Given the description of an element on the screen output the (x, y) to click on. 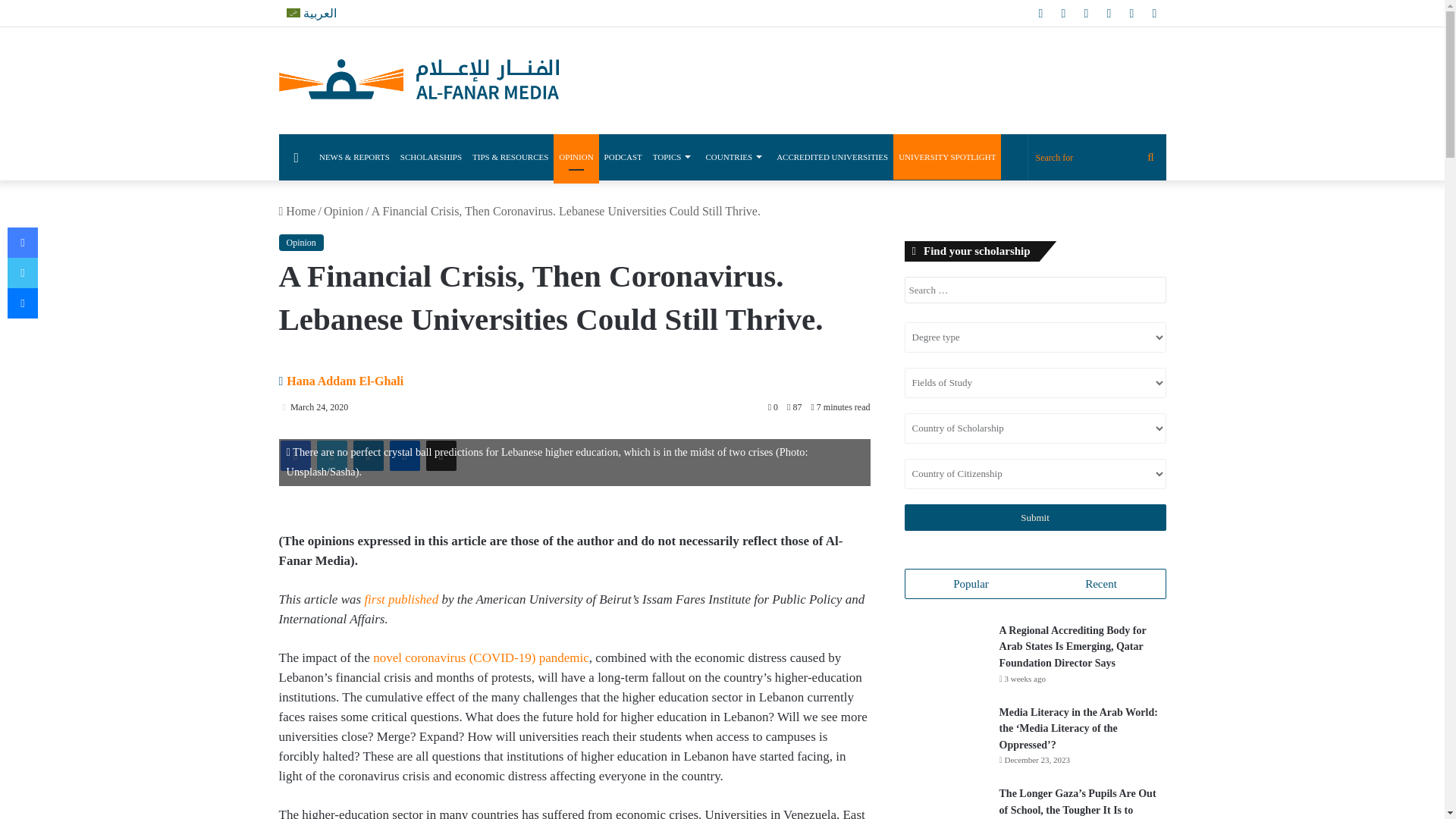
COUNTRIES (735, 156)
PODCAST (622, 156)
LinkedIn (368, 455)
Twitter (332, 455)
OPINION (575, 156)
Share via Email (441, 455)
Al-Fanar Media (419, 80)
Facebook (296, 455)
SCHOLARSHIPS (430, 156)
Submit (1035, 517)
Search for (1096, 157)
Messenger (405, 455)
TOPICS (673, 156)
